Given the description of an element on the screen output the (x, y) to click on. 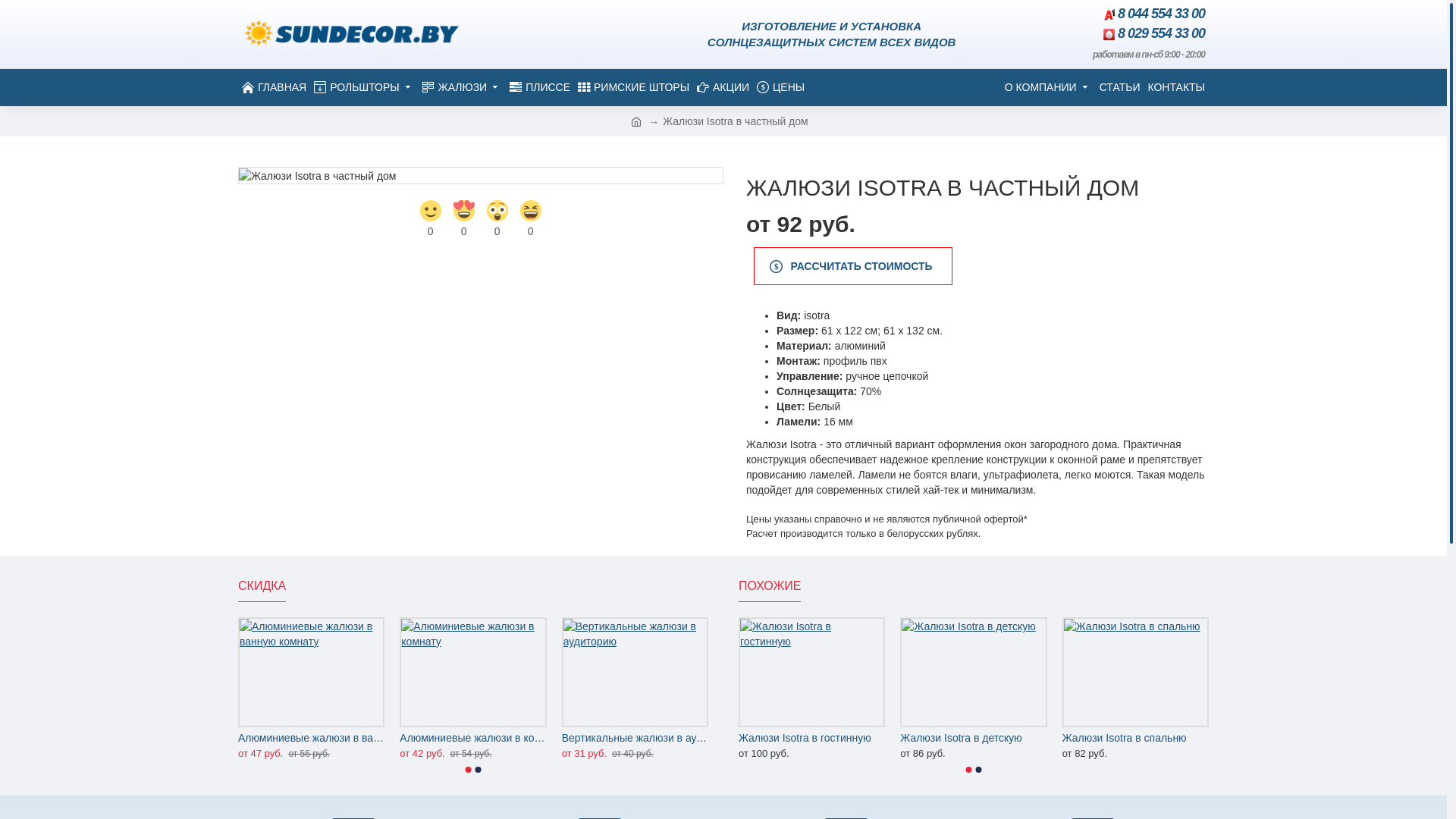
                                Element type: text (1023, 33)
